Given the description of an element on the screen output the (x, y) to click on. 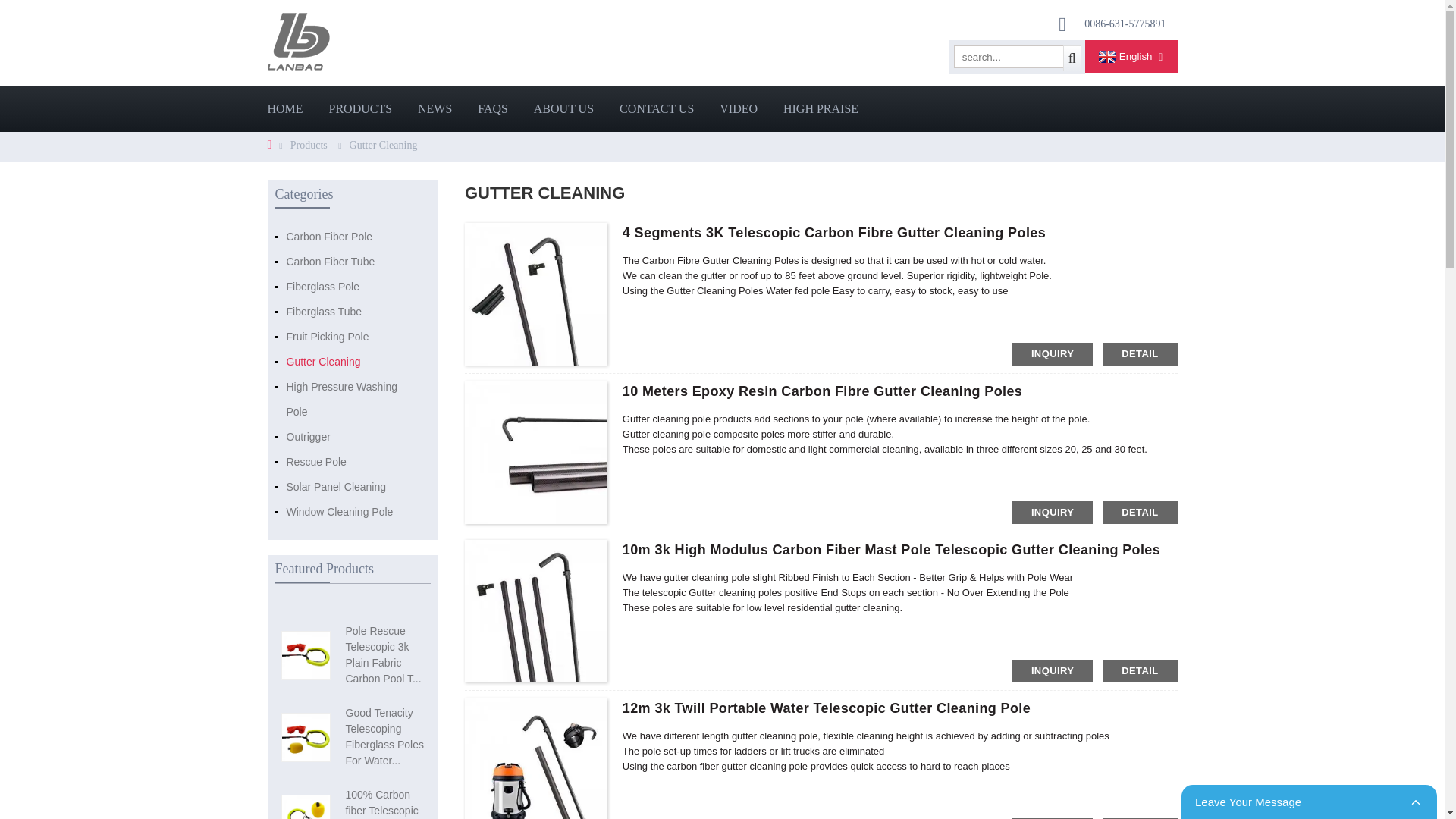
4 Segments 3K Telescopic Carbon Fibre Gutter Cleaning Poles (834, 232)
Gutter Cleaning (383, 144)
Fiberglass Tube (352, 311)
0086-631-5775891 (1125, 23)
Gutter Cleaning (352, 361)
Products (308, 144)
Solar Panel Cleaning (352, 487)
ABOUT US (564, 108)
Carbon Fiber Pole (352, 236)
English (1123, 56)
High Pressure Washing Pole (352, 399)
Window Cleaning Pole (352, 511)
PRODUCTS (361, 108)
Outrigger (352, 437)
